Given the description of an element on the screen output the (x, y) to click on. 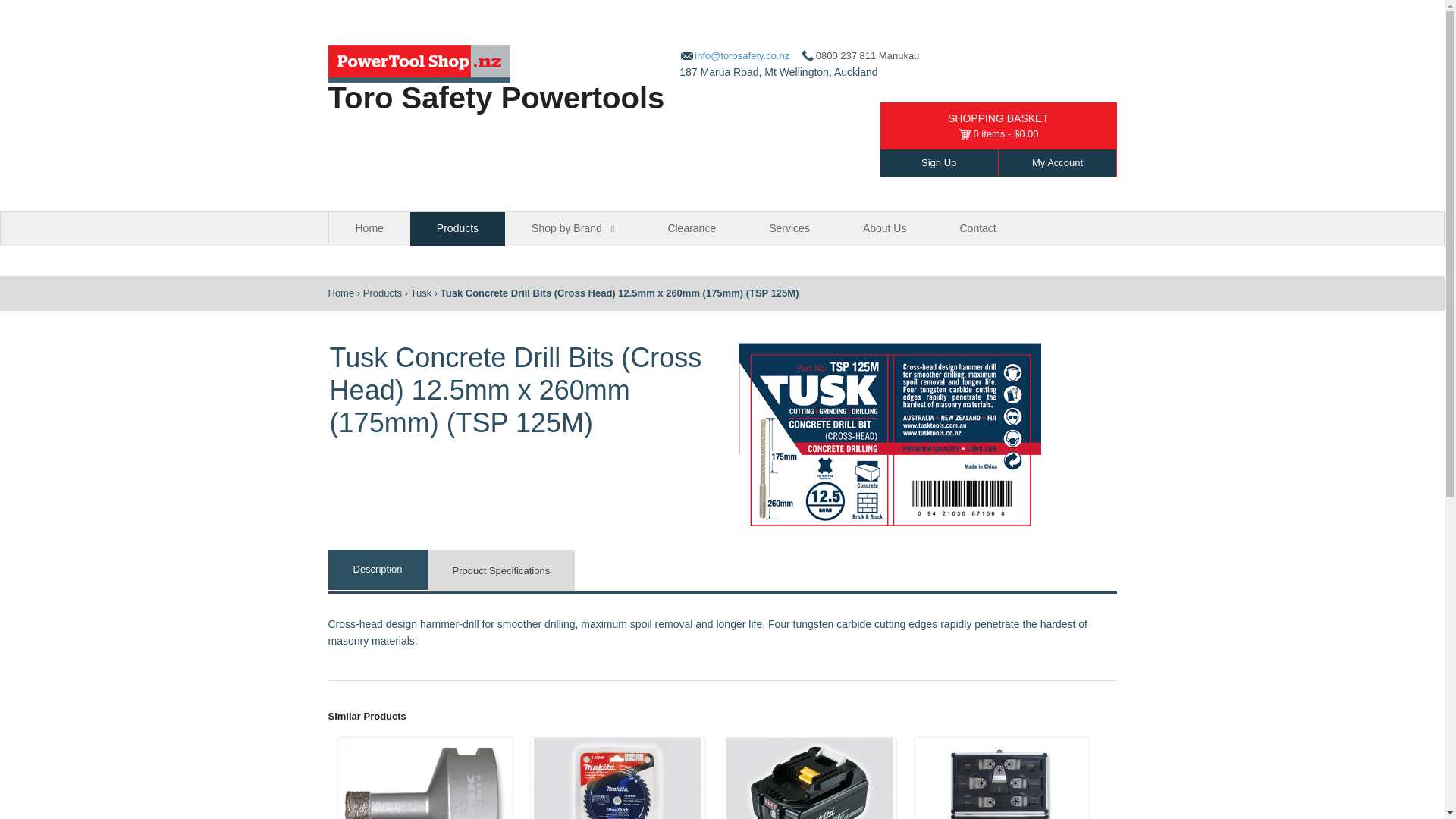
Services (788, 228)
View your shopping cart (998, 133)
Toro Safety Powertools (495, 97)
Sign Up (938, 162)
Shop by Brand (572, 228)
Products (457, 228)
Home (369, 228)
Products (381, 292)
Products (381, 292)
My Account (1057, 162)
Tusk (420, 292)
0800 237 811 (838, 55)
Toro Safety Powertools (340, 292)
Product Specifications (501, 570)
About Us (884, 228)
